Given the description of an element on the screen output the (x, y) to click on. 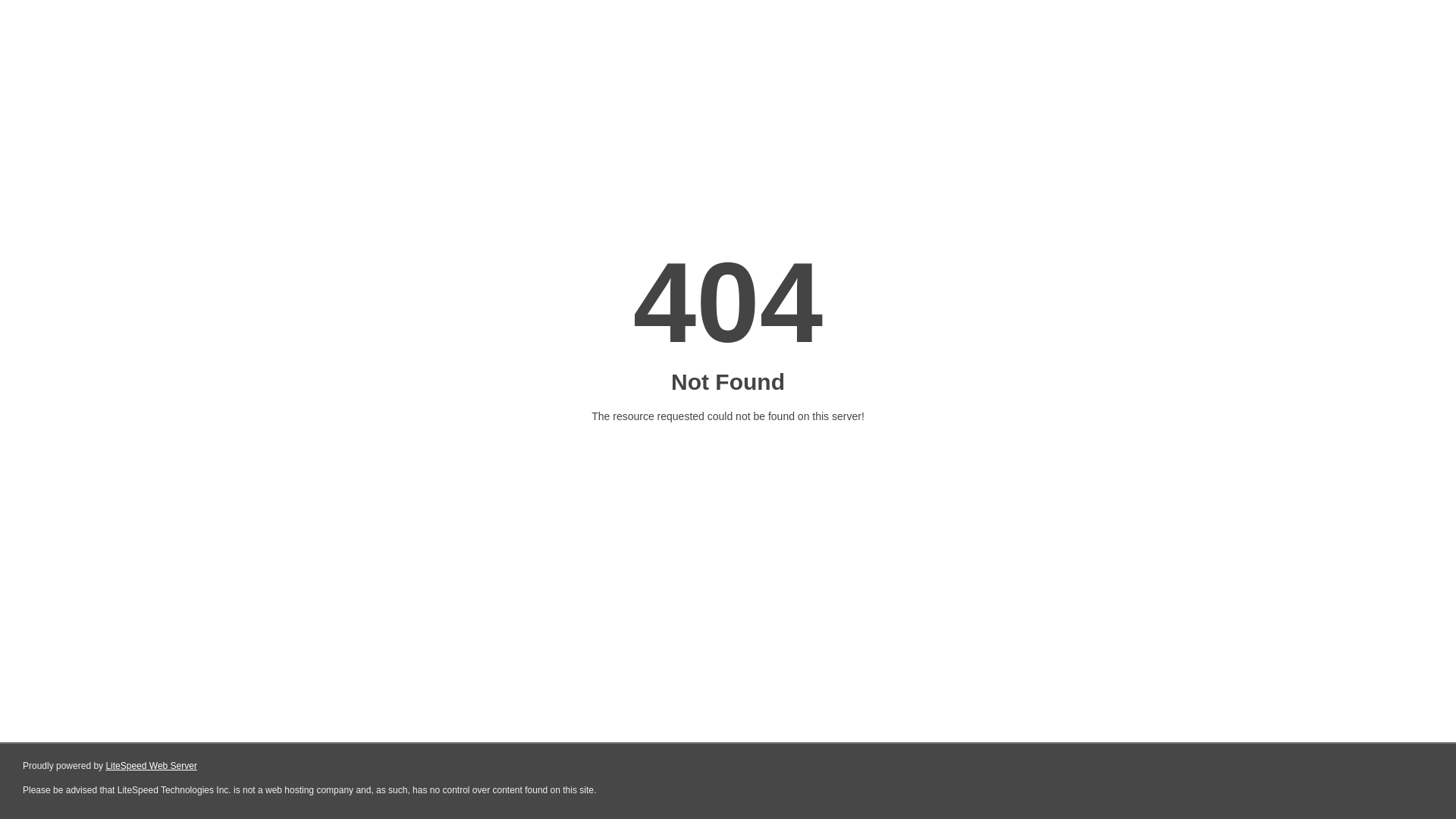
LiteSpeed Web Server Element type: text (151, 765)
